Given the description of an element on the screen output the (x, y) to click on. 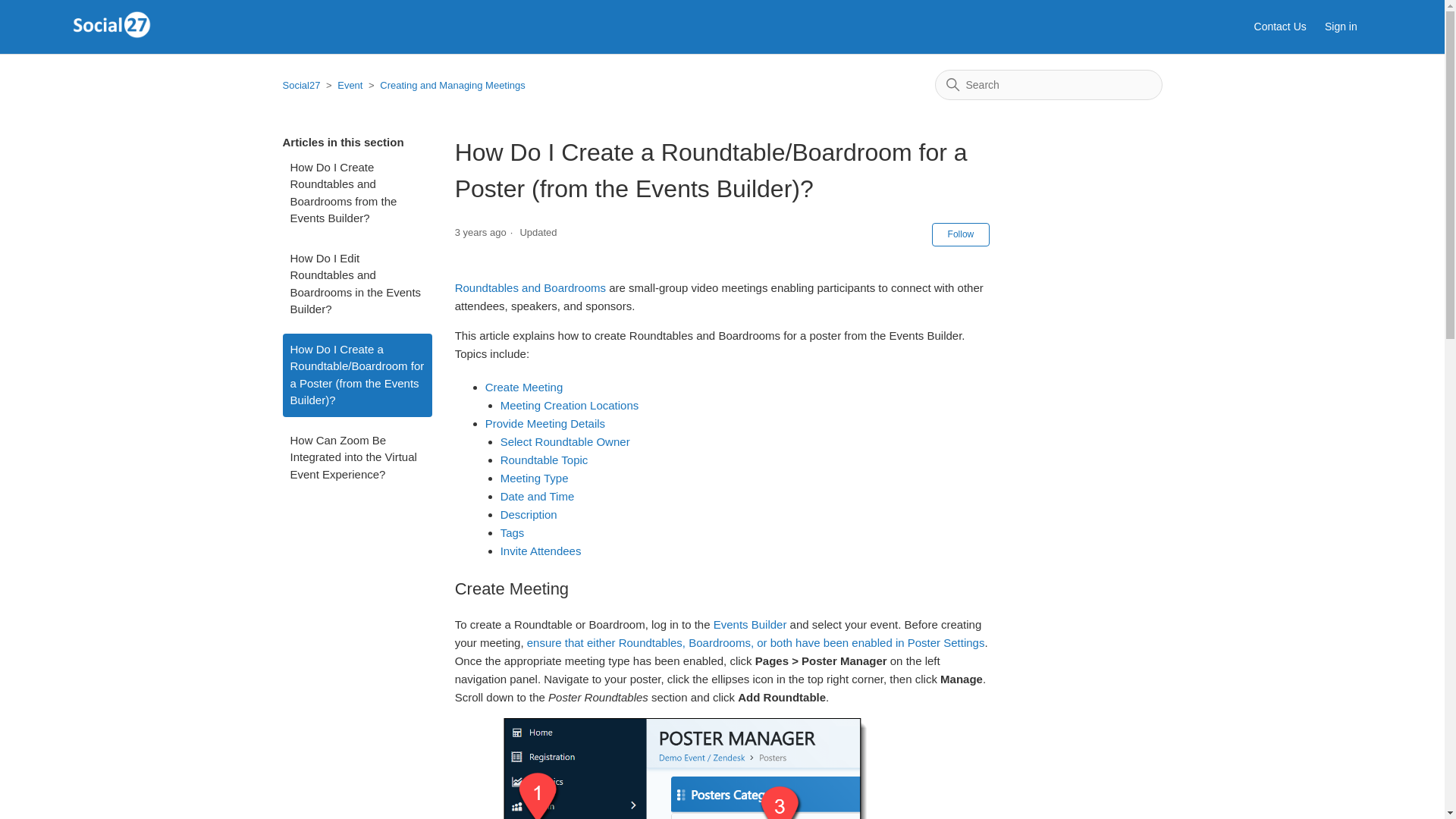
Creating and Managing Meetings (445, 84)
2021-12-21 02:57 (480, 232)
Social27 (301, 84)
Date and Time (537, 495)
Sign in (1348, 26)
Meeting Creation Locations (569, 404)
Event (349, 84)
Opens a dialog (1348, 26)
Meeting Type (534, 477)
